Given the description of an element on the screen output the (x, y) to click on. 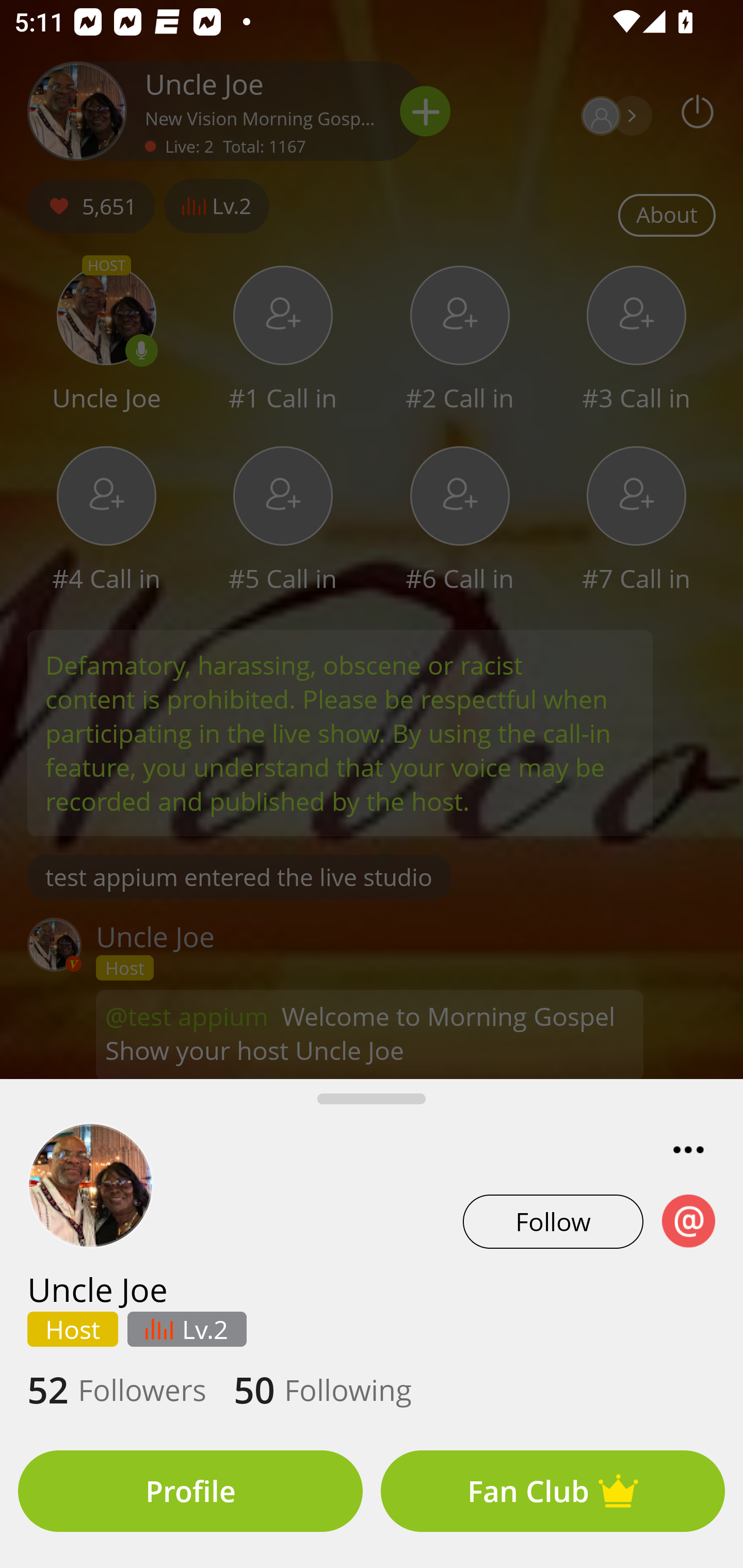
Follow (552, 1221)
Profile (189, 1490)
Fan Club (552, 1490)
